Given the description of an element on the screen output the (x, y) to click on. 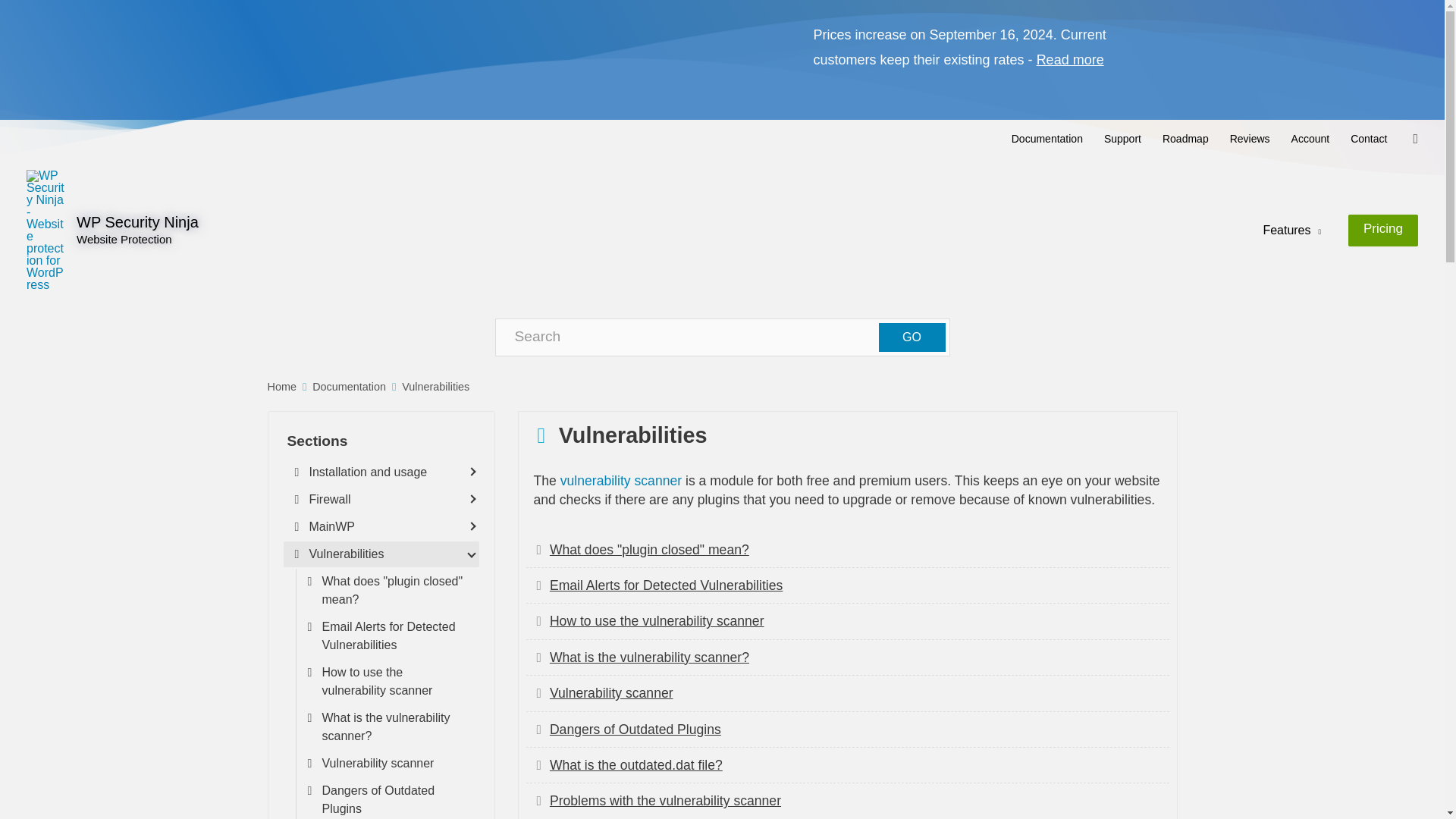
Support (1122, 138)
Documentation (1047, 138)
Pricing (1383, 230)
Documentation (349, 386)
What is the outdated.dat file? (636, 765)
What is the vulnerability scanner? (649, 657)
Dangers of Outdated Plugins (635, 729)
Roadmap (1185, 138)
Contact (1368, 138)
WP Security Ninja (137, 221)
